Given the description of an element on the screen output the (x, y) to click on. 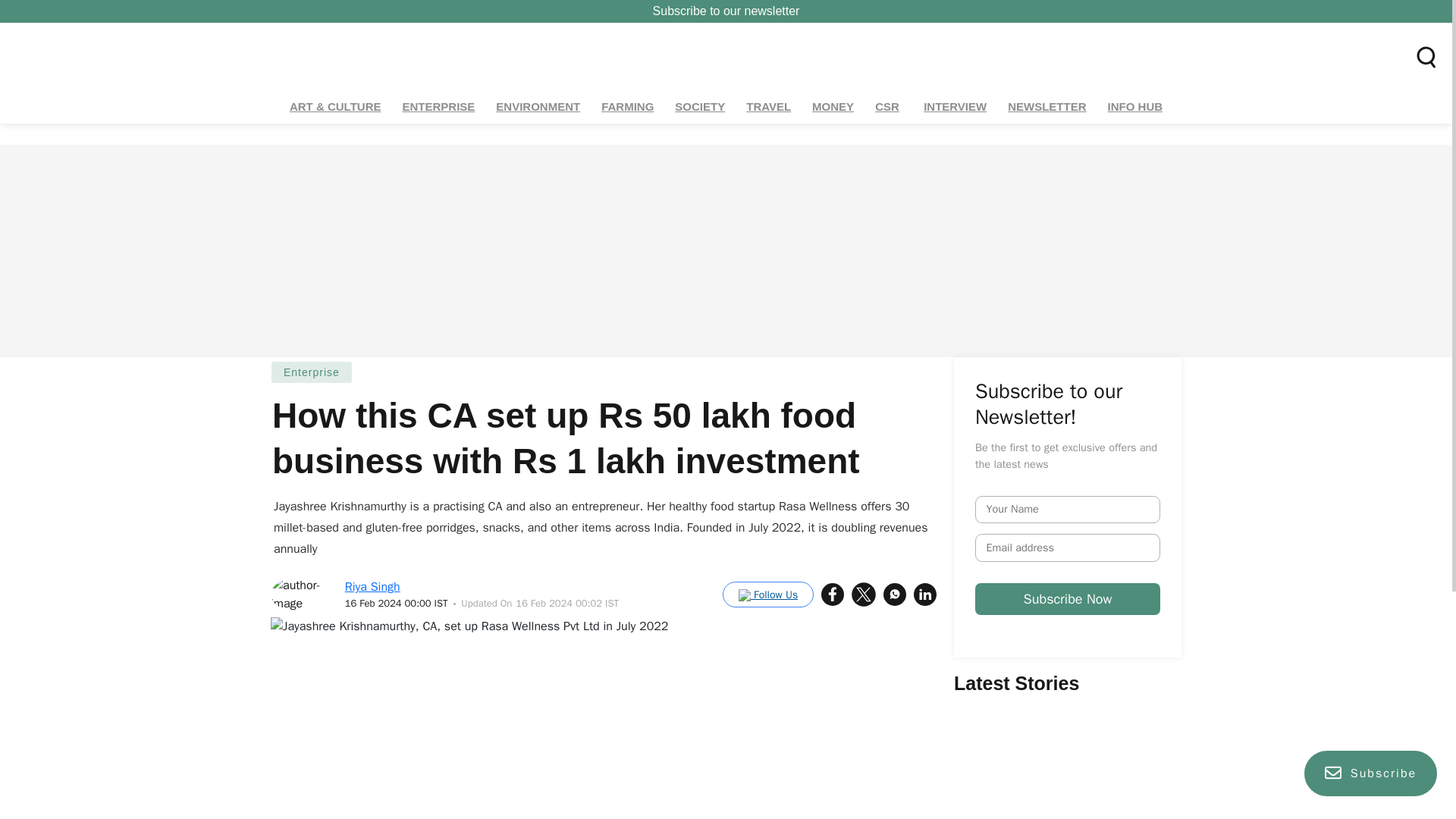
CSR (888, 106)
Enterprise (311, 372)
MONEY (832, 106)
NEWSLETTER (1046, 106)
ENVIRONMENT (537, 106)
FARMING (627, 106)
TRAVEL (768, 106)
INFO HUB (1135, 106)
SOCIETY (699, 106)
Follow Us (767, 594)
